Given the description of an element on the screen output the (x, y) to click on. 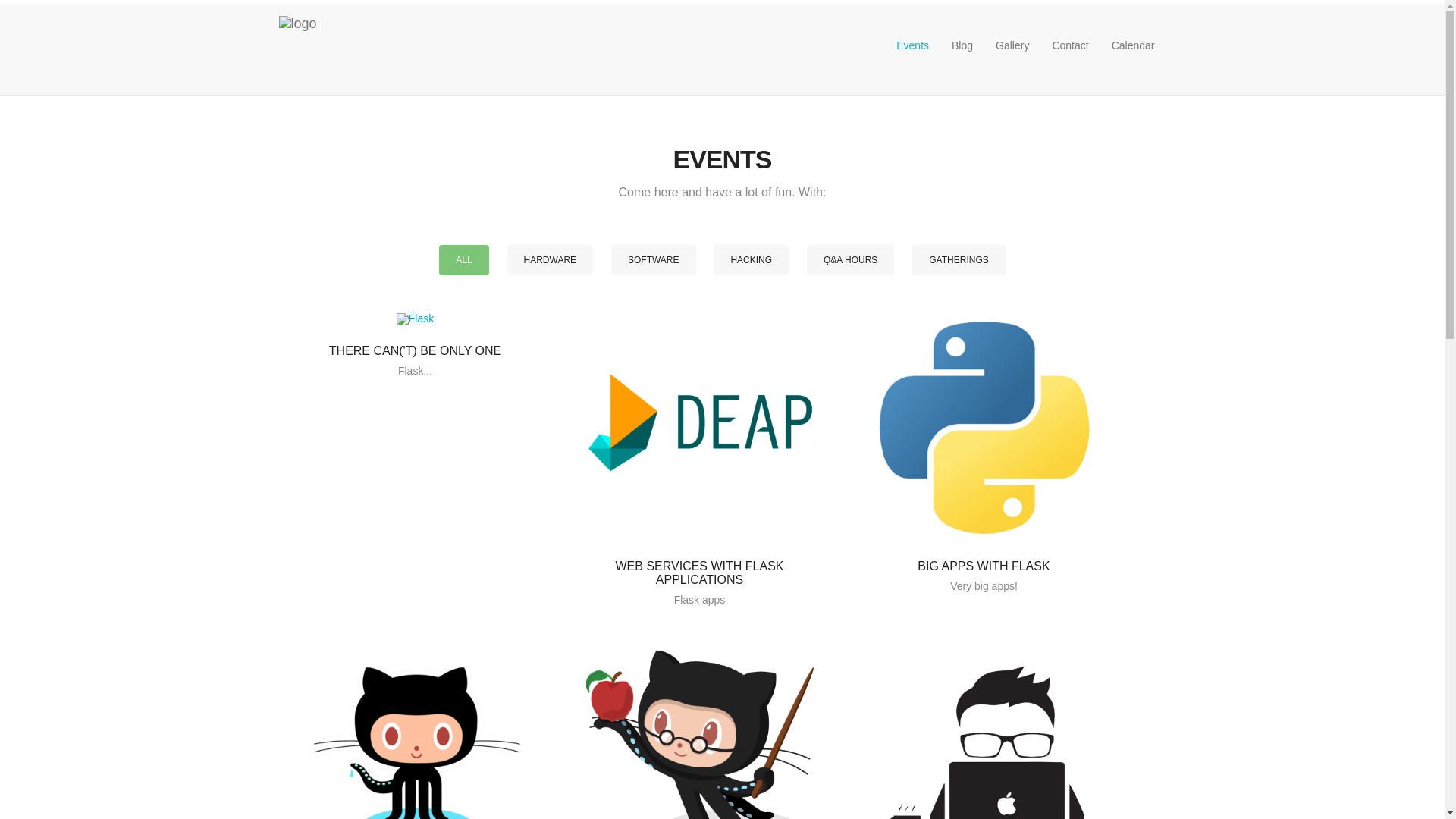
Events Element type: text (912, 45)
Gallery Element type: text (1012, 45)
SOFTWARE Element type: text (653, 259)
HACKING Element type: text (750, 259)
HARDWARE Element type: text (550, 259)
Q&A HOURS Element type: text (850, 259)
Blog Element type: text (962, 45)
GATHERINGS Element type: text (958, 259)
ALL Element type: text (463, 259)
Calendar Element type: text (1133, 45)
Contact Element type: text (1069, 45)
